Given the description of an element on the screen output the (x, y) to click on. 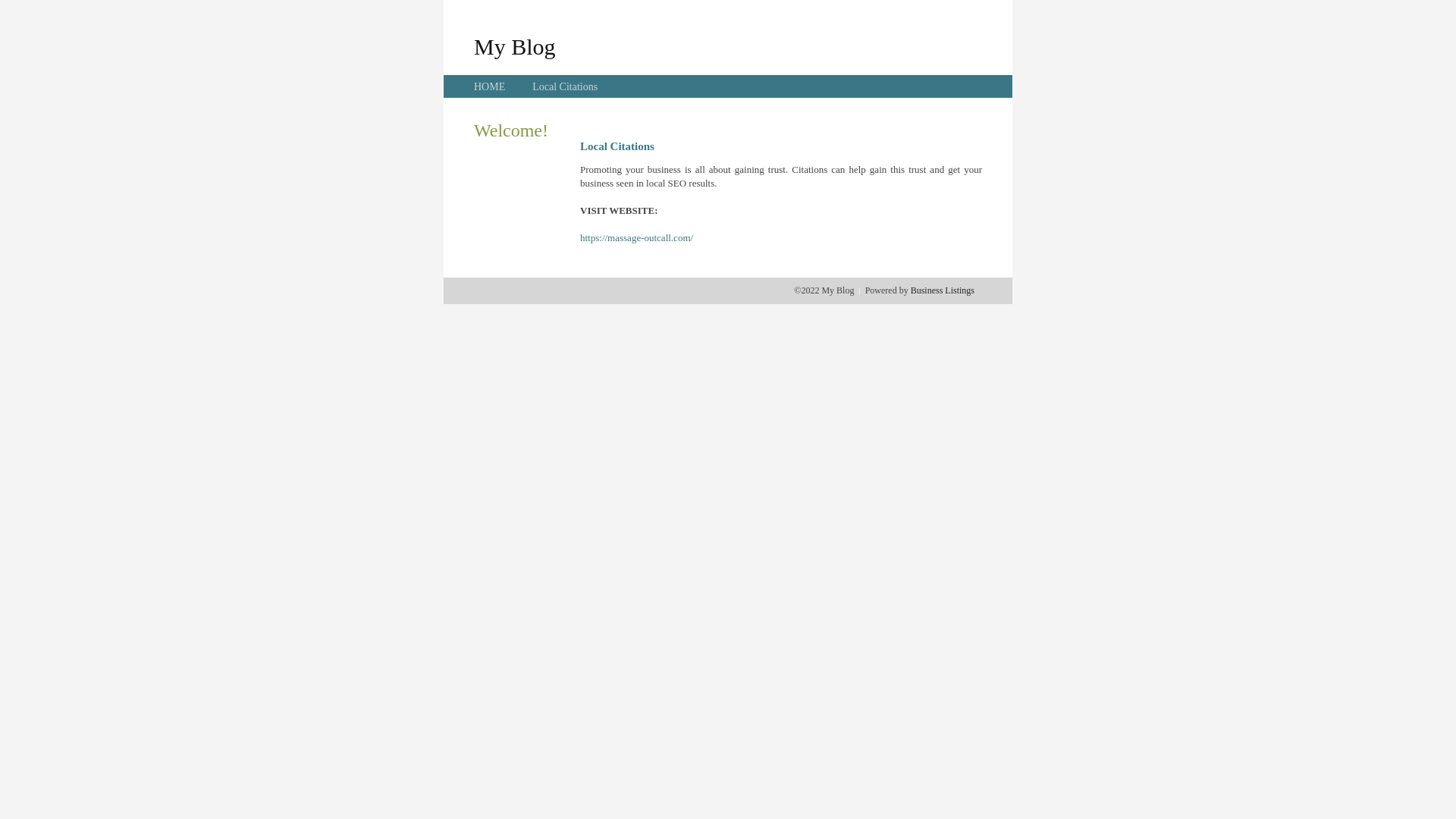
HOME Element type: text (489, 86)
Business Listings Element type: text (942, 290)
My Blog Element type: text (514, 46)
Local Citations Element type: text (564, 86)
https://massage-outcall.com/ Element type: text (636, 237)
